Given the description of an element on the screen output the (x, y) to click on. 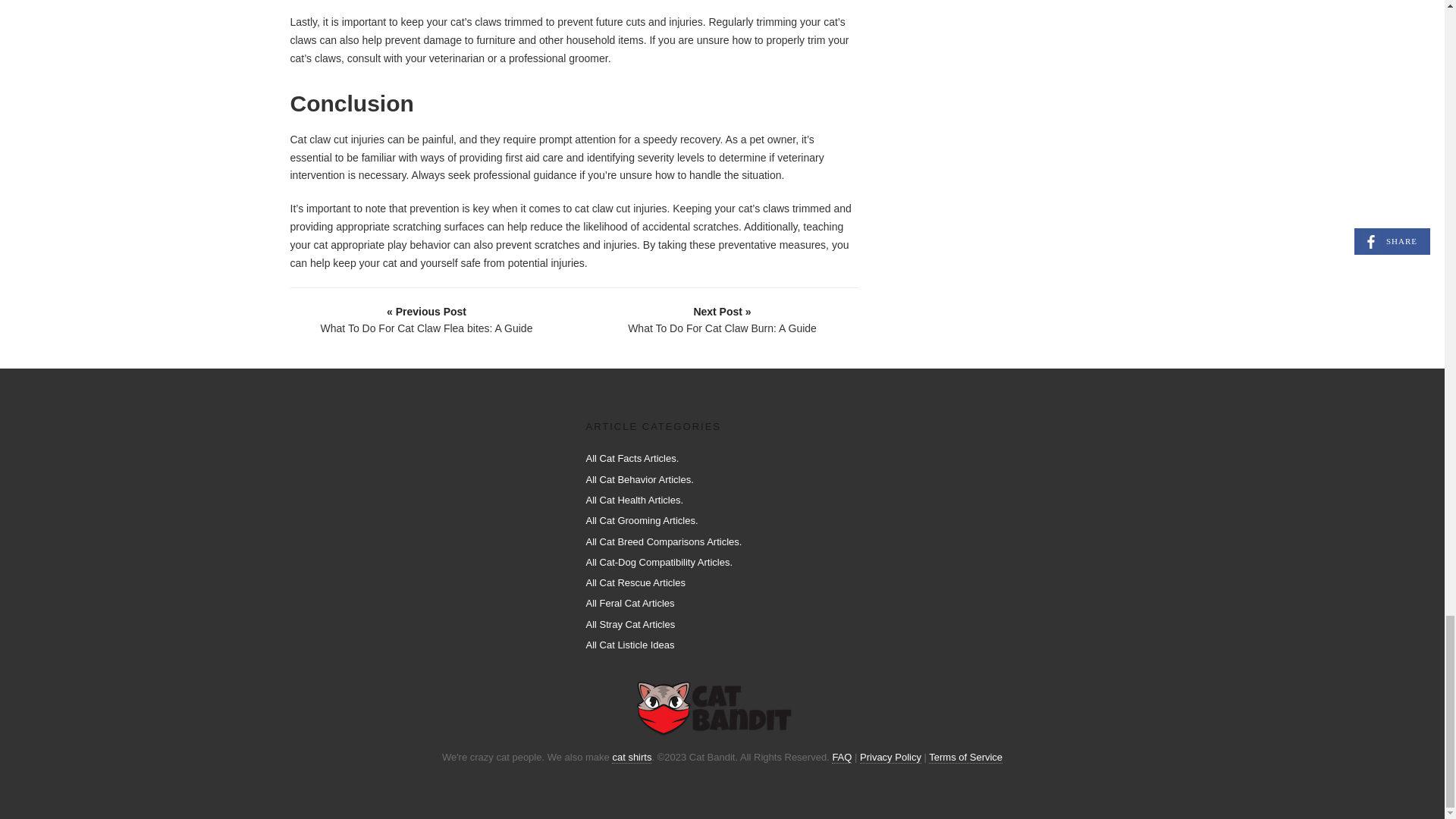
All Cat Grooming Articles. (641, 520)
What To Do For Cat Claw Flea bites: A Guide (427, 319)
All Cat-Dog Compatibility Articles. (658, 562)
All Cat Breed Comparisons Articles. (663, 541)
All Cat Health Articles. (633, 500)
All Feral Cat Articles (629, 603)
All Cat Rescue Articles (635, 582)
What To Do For Cat Claw Burn: A Guide (722, 319)
All Stray Cat Articles (630, 624)
All Cat Behavior Articles. (639, 479)
All Cat Facts Articles. (631, 458)
The Cat Bandit Blog (716, 708)
